Given the description of an element on the screen output the (x, y) to click on. 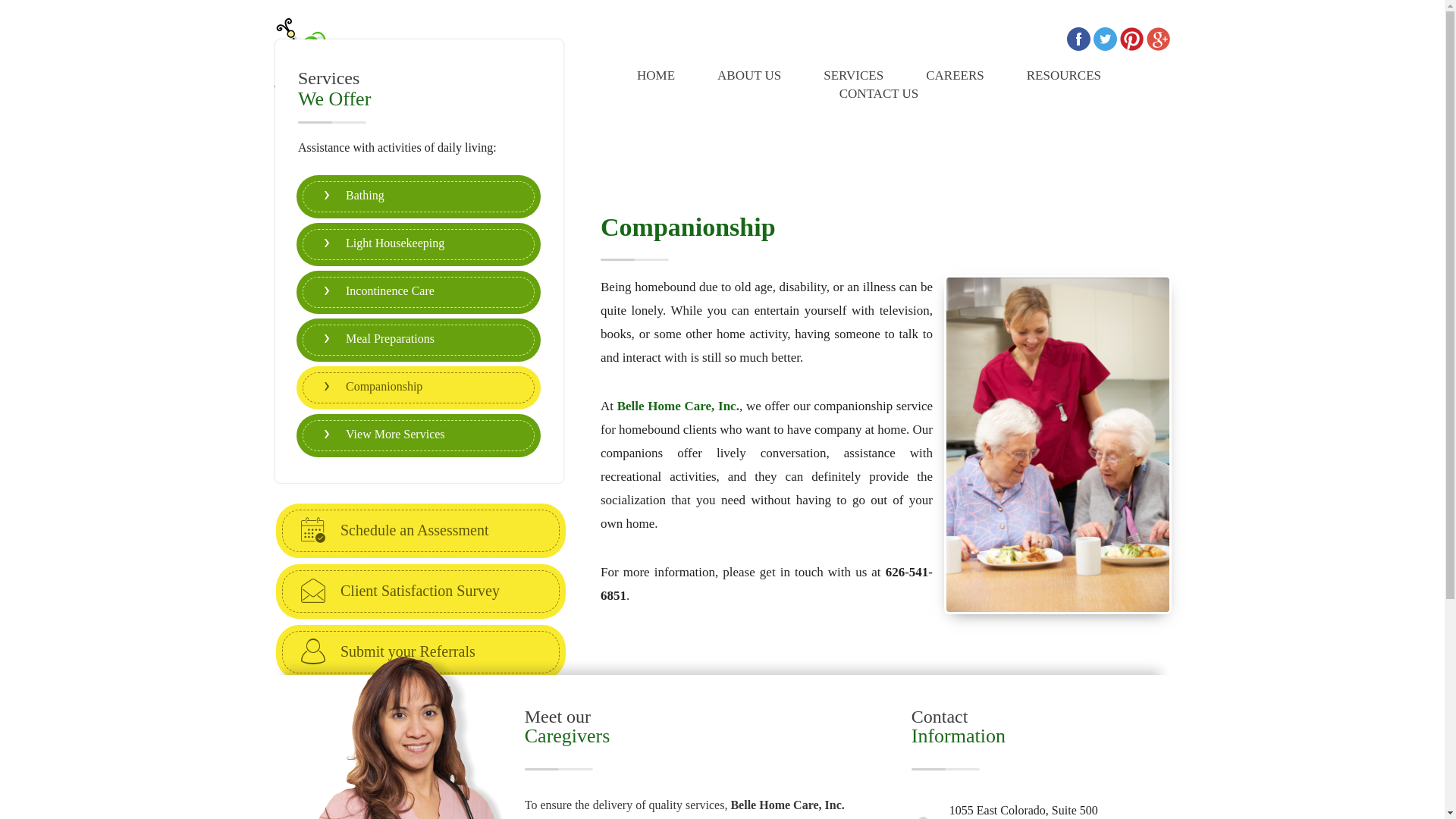
Bathing (418, 196)
CONTACT US (872, 93)
Light Housekeeping (418, 244)
Client Satisfaction Survey (420, 591)
HOME (655, 75)
SERVICES (852, 75)
ABOUT US (748, 75)
Companionship (418, 387)
Incontinence Care (418, 291)
View More Services (418, 435)
RESOURCES (1063, 75)
Meal Preparations (418, 339)
Submit your Referrals (420, 651)
Schedule an Assessment (420, 530)
CAREERS (954, 75)
